Given the description of an element on the screen output the (x, y) to click on. 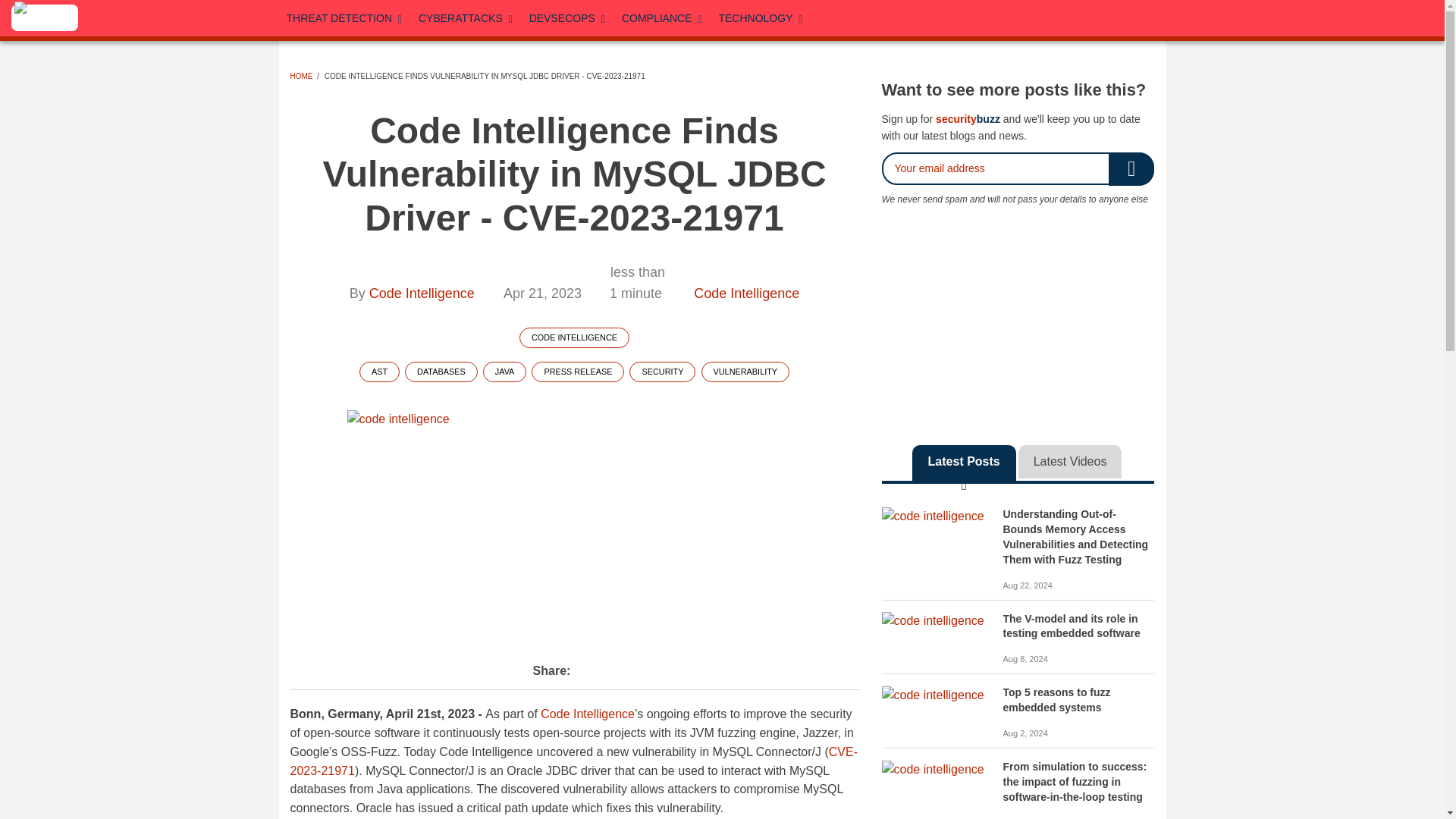
DEVSECOPS (567, 18)
CYBERATTACKS (465, 18)
Home (44, 17)
code intelligence (932, 516)
THREAT DETECTION (345, 18)
COMPLIANCE (662, 18)
code intelligence (574, 524)
code intelligence (932, 695)
linkedin (997, 15)
Subscribe (1131, 168)
